Given the description of an element on the screen output the (x, y) to click on. 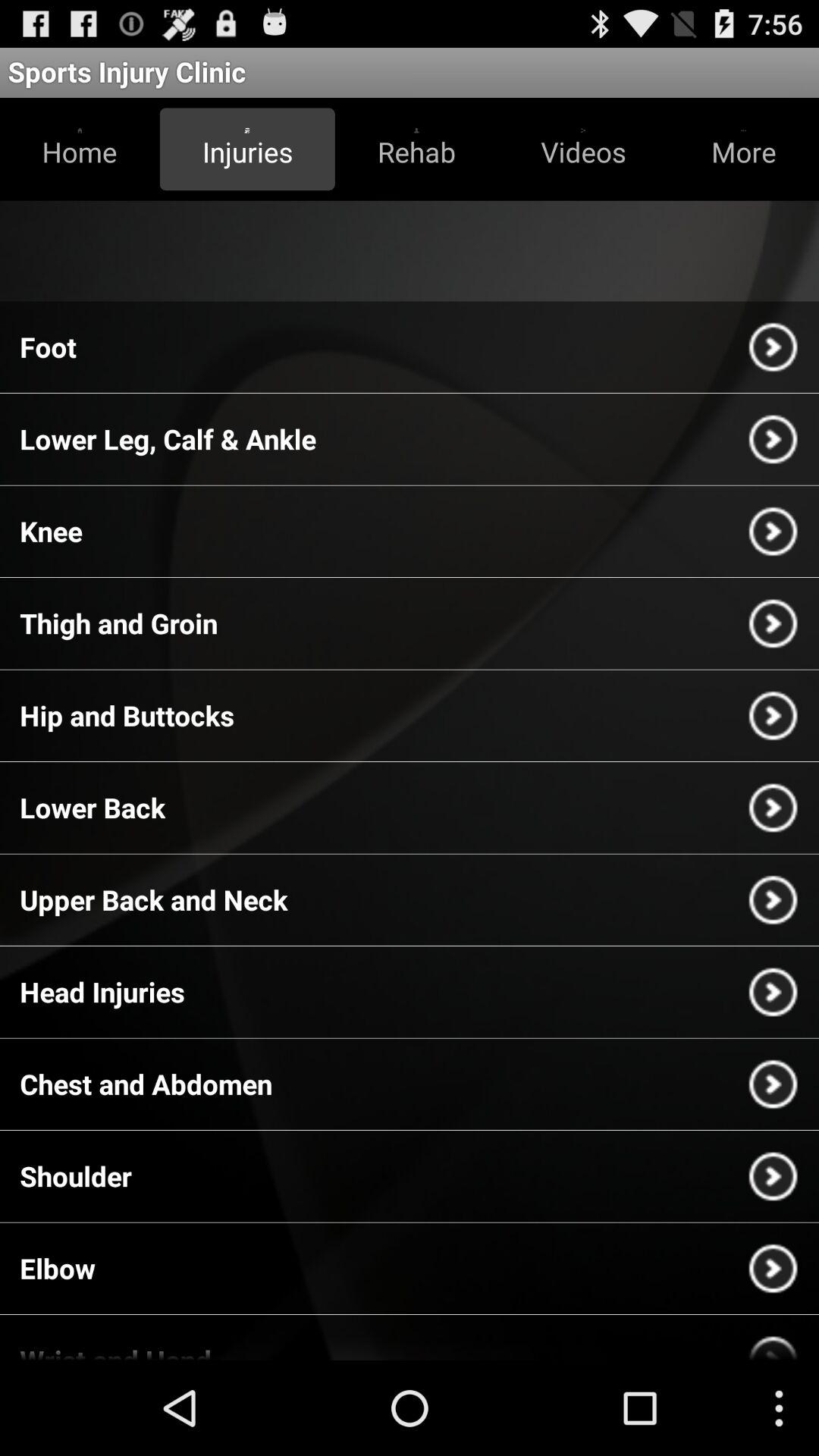
click on the button more at top right corner (744, 148)
select button next to upper back and neck (773, 900)
select the fourth forward arrow at the right side of the page (773, 622)
select the arrow button which is next to the chest and abdomen (773, 1083)
